Given the description of an element on the screen output the (x, y) to click on. 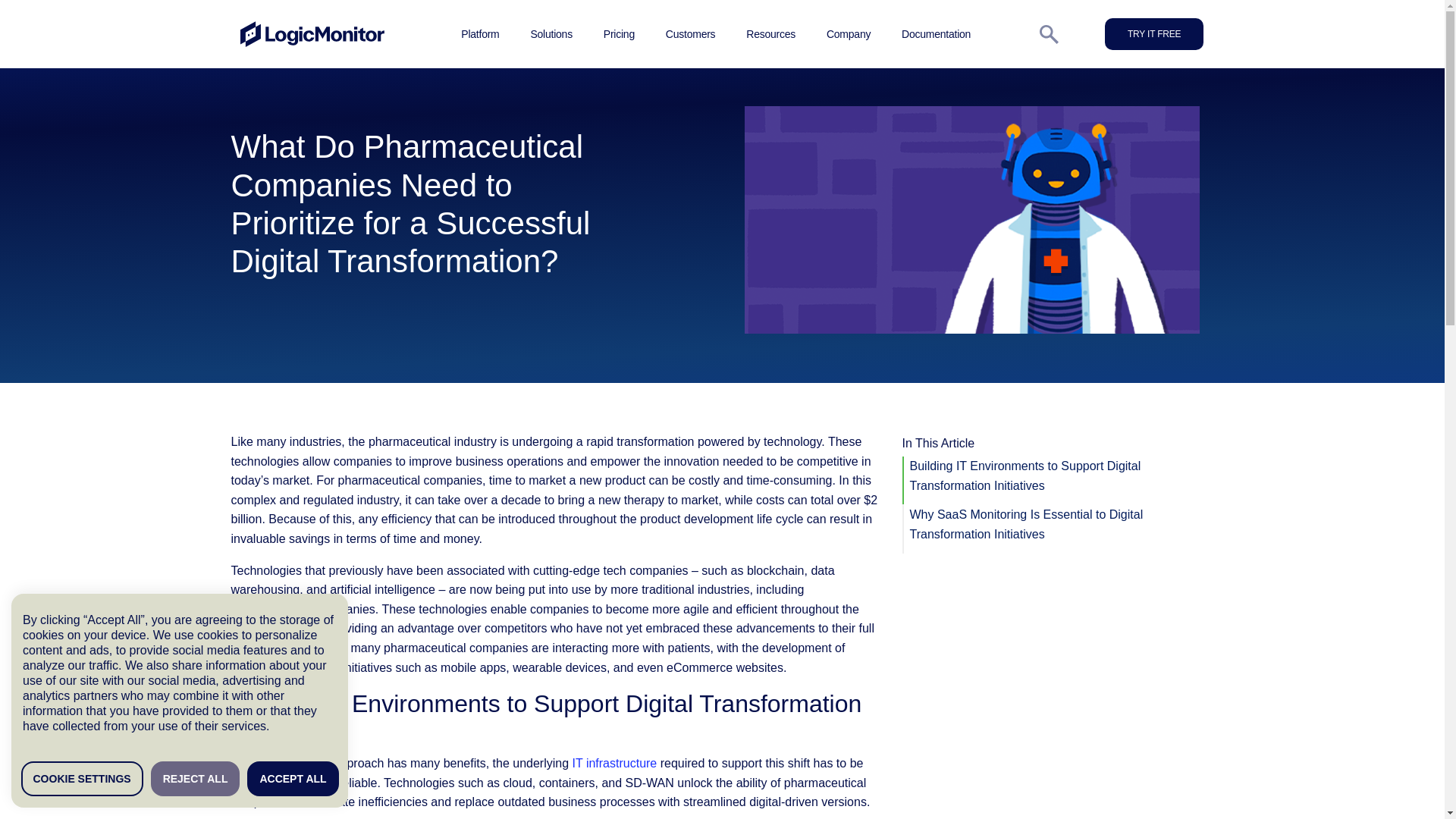
Solutions (550, 33)
Customers (690, 33)
Documentation (936, 33)
TRY IT FREE (1154, 33)
Company (848, 33)
Pricing (619, 33)
Resources (769, 33)
Platform (480, 33)
